Given the description of an element on the screen output the (x, y) to click on. 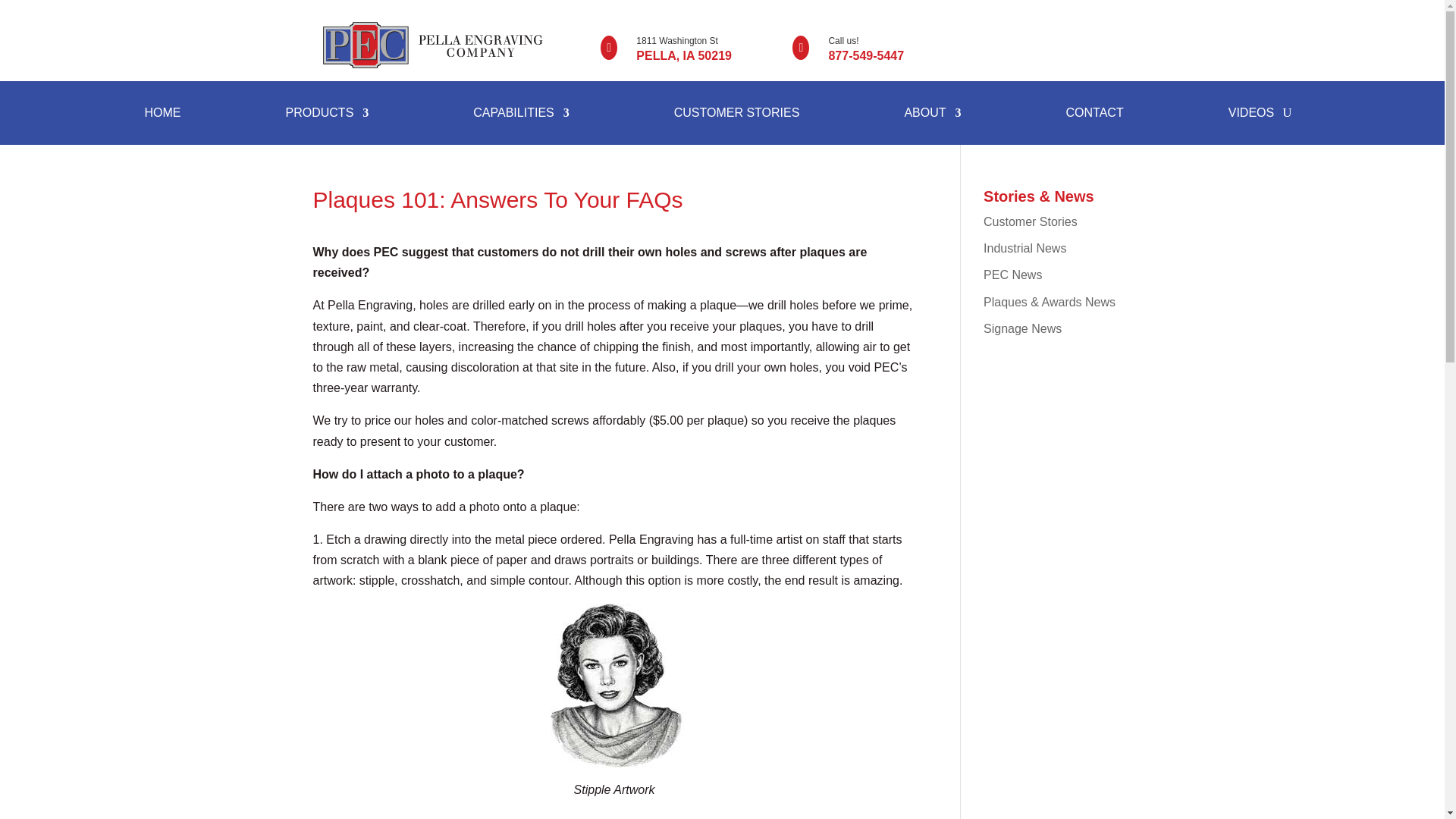
HOME (162, 115)
pella-engraving-company-logo (433, 45)
Call us! (843, 40)
1811 Washington St (676, 40)
